Given the description of an element on the screen output the (x, y) to click on. 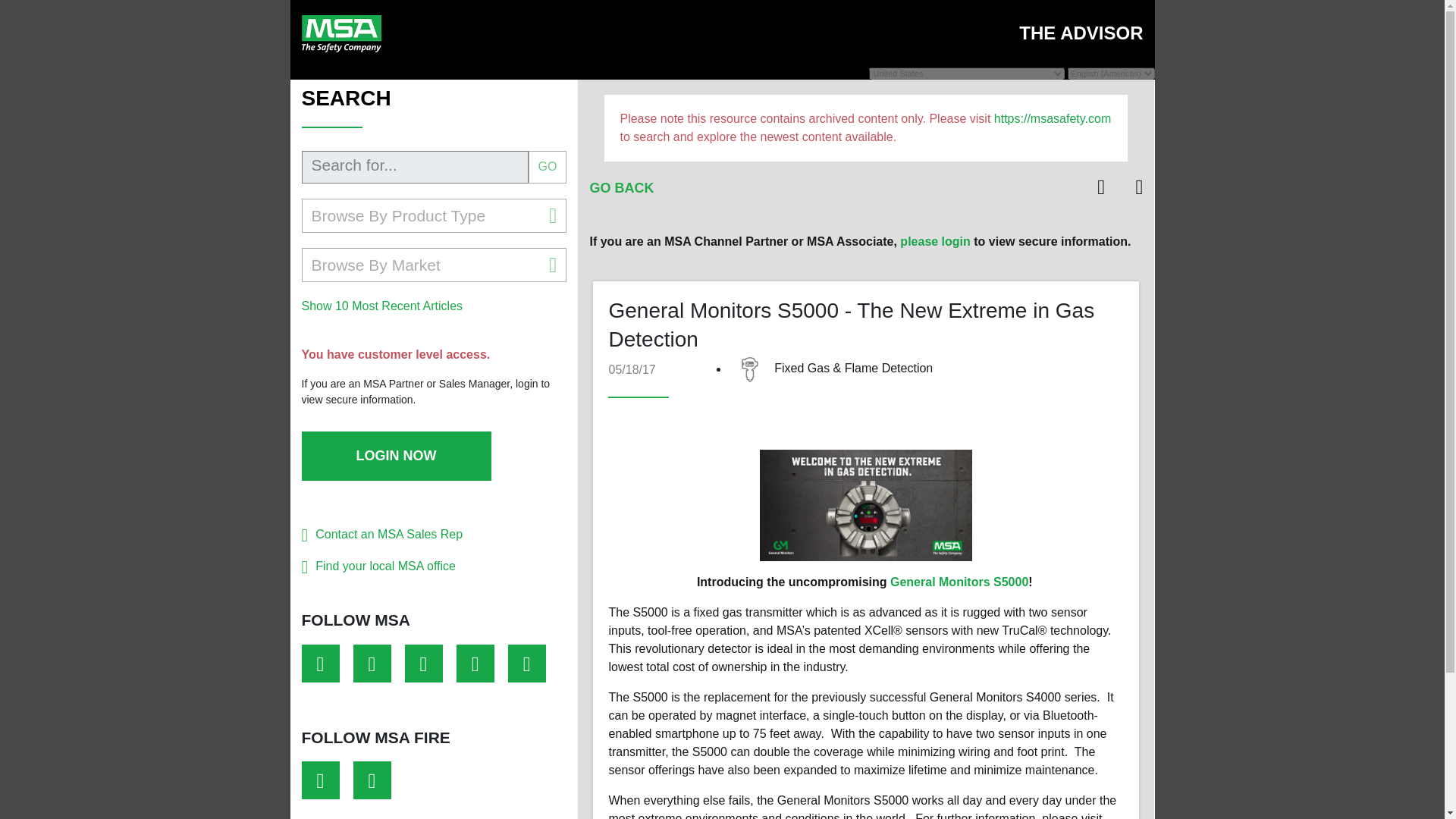
GO (547, 166)
Show 10 Most Recent Articles (382, 305)
Show 10 Most Recent Articles (382, 305)
Find your local MSA office (385, 565)
Contact an MSA Sales Rep (389, 533)
Browse By Market (434, 264)
Go Back (621, 187)
Browse By Product Type (434, 215)
GM S5000 (866, 505)
